Given the description of an element on the screen output the (x, y) to click on. 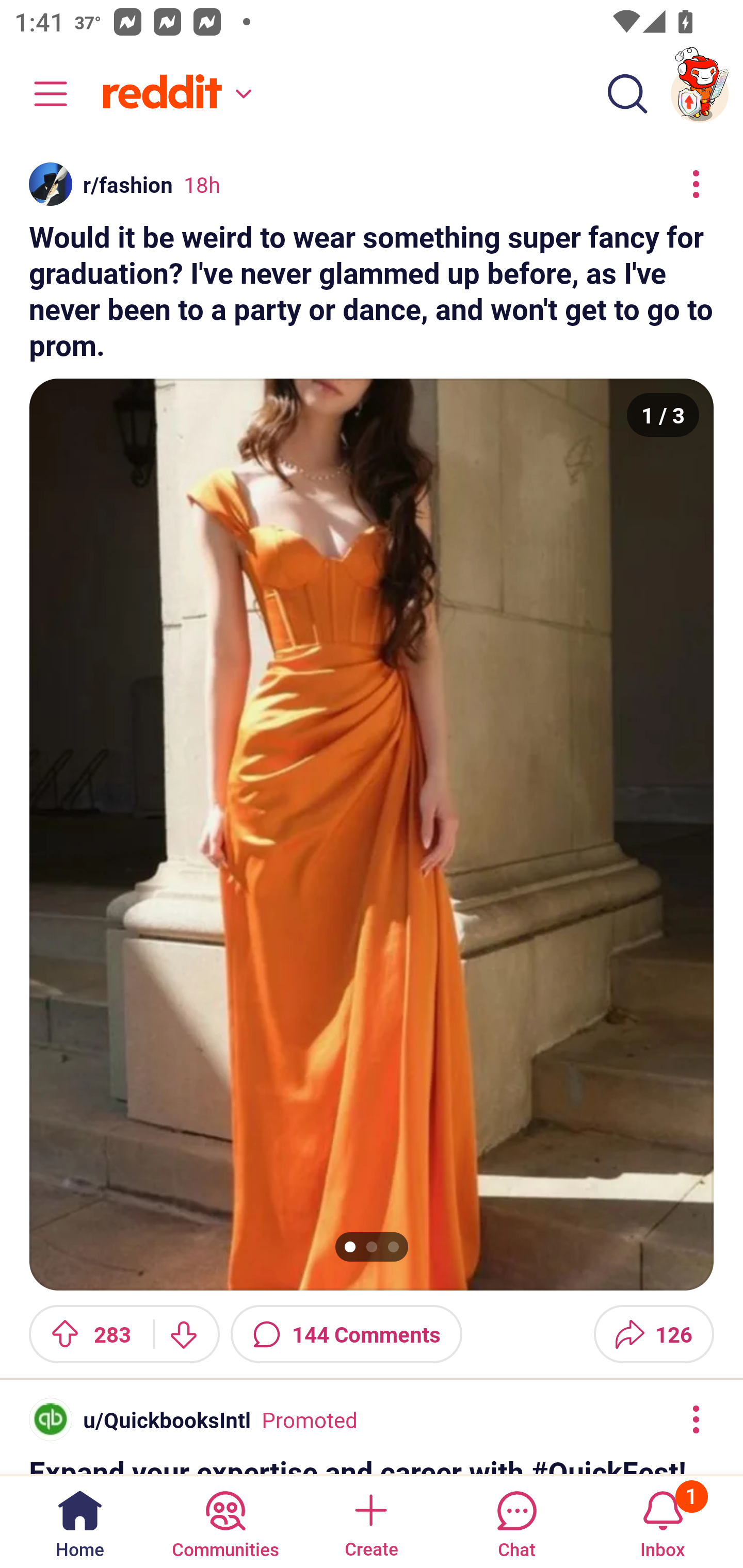
Search (626, 93)
TestAppium002 account (699, 93)
Community menu (41, 94)
Home feed (173, 94)
Home (80, 1520)
Communities (225, 1520)
Create a post Create (370, 1520)
Chat (516, 1520)
Inbox, has 1 notification 1 Inbox (662, 1520)
